Given the description of an element on the screen output the (x, y) to click on. 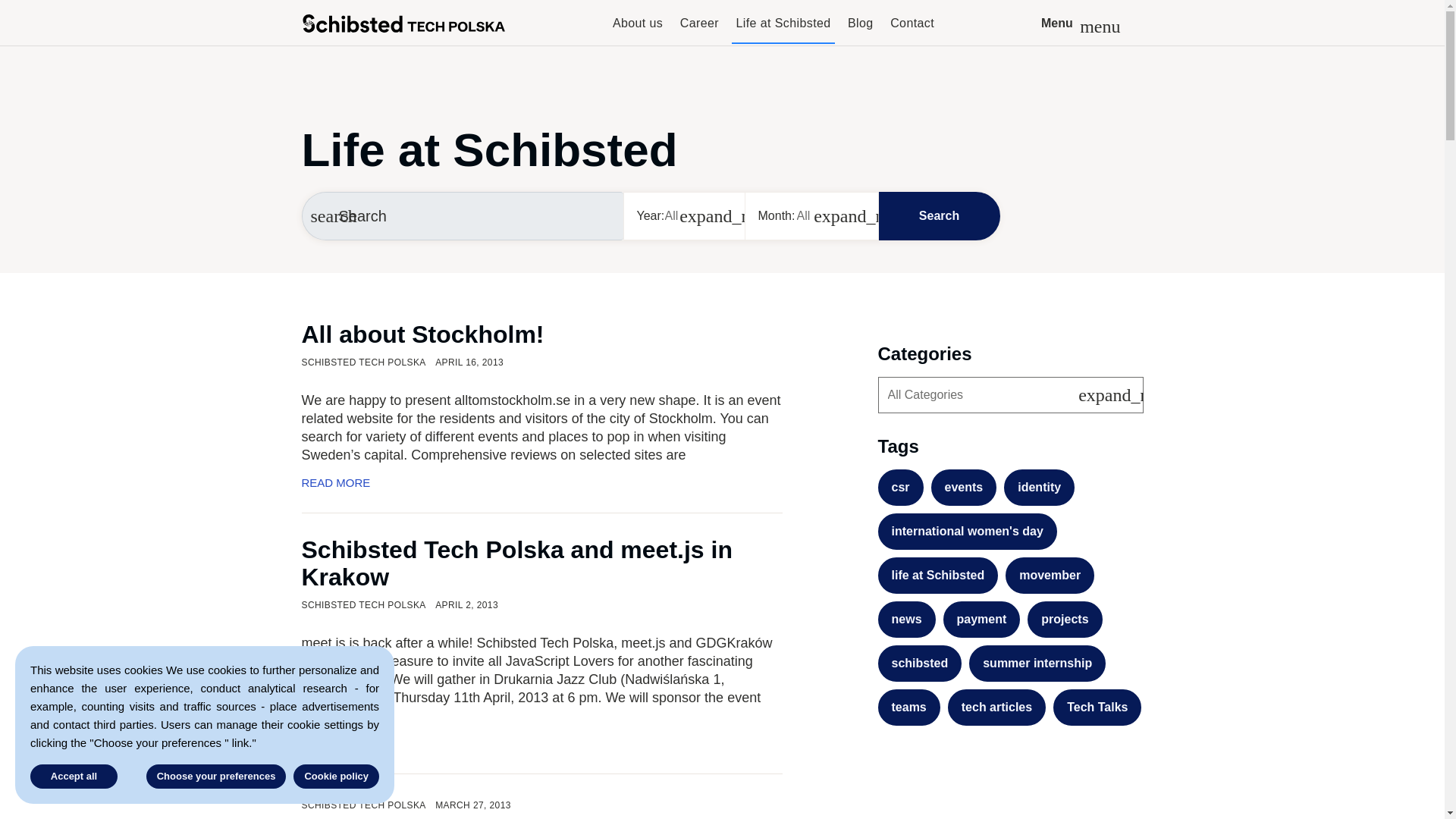
Choose your preferences (216, 776)
Schibsted Tech Polska and meet.js in Krakow (516, 563)
READ MORE (542, 482)
Accept all (73, 776)
Career (699, 30)
READ MORE (542, 744)
Search (937, 215)
All about Stockholm! (422, 334)
Blog (860, 30)
Life at Schibsted (783, 30)
About us (637, 30)
Cookie policy (336, 776)
Menu menu (1078, 23)
Contact (911, 30)
